Given the description of an element on the screen output the (x, y) to click on. 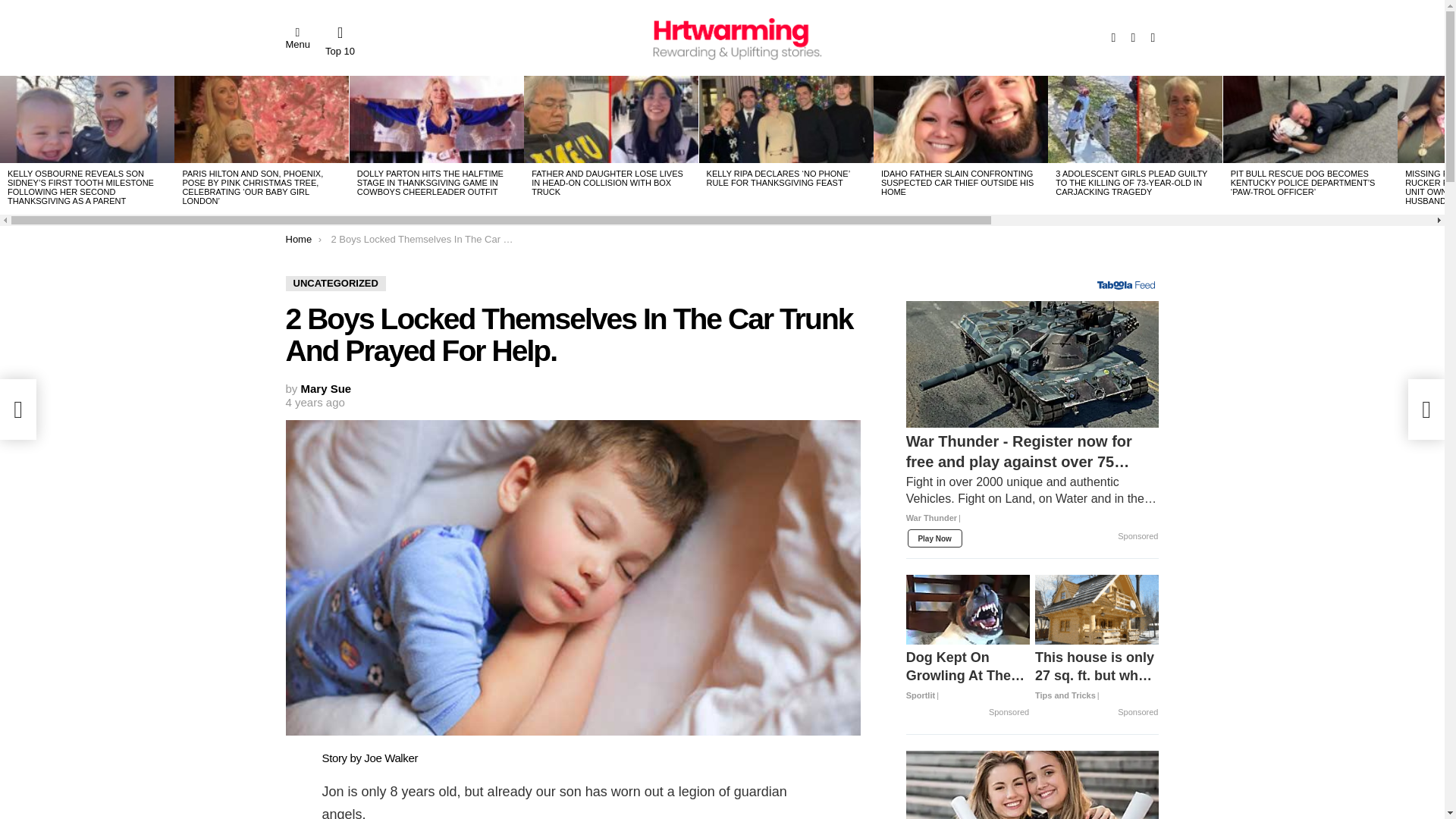
Home (298, 238)
Top 10 (339, 40)
Posts by Mary Sue (326, 388)
July 15, 2020, 10:30 am (314, 402)
UNCATEGORIZED (335, 283)
